Given the description of an element on the screen output the (x, y) to click on. 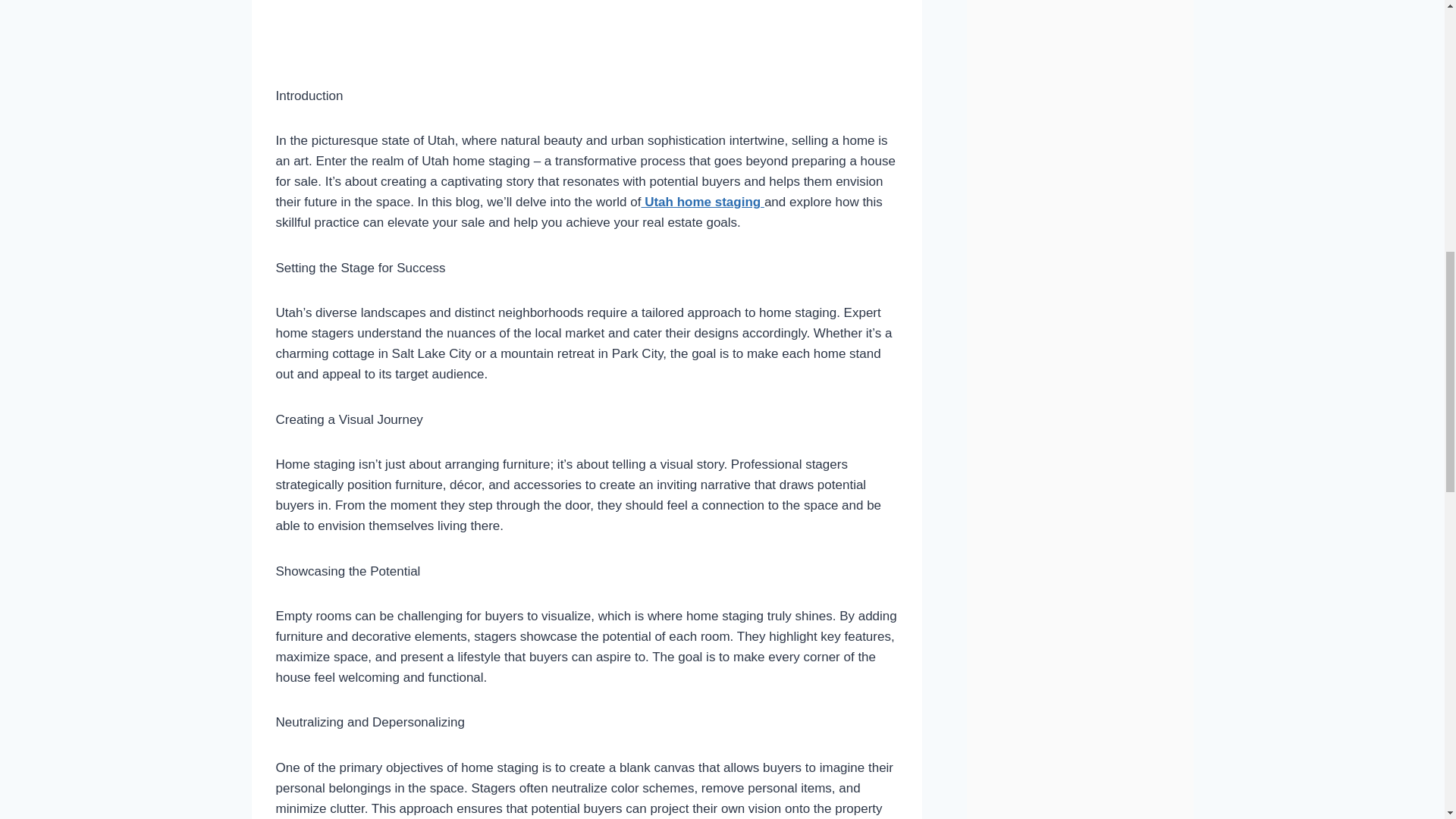
Elevate Your Sale: The Art of Utah Home Staging" 1 (587, 30)
Utah home staging (701, 201)
